Given the description of an element on the screen output the (x, y) to click on. 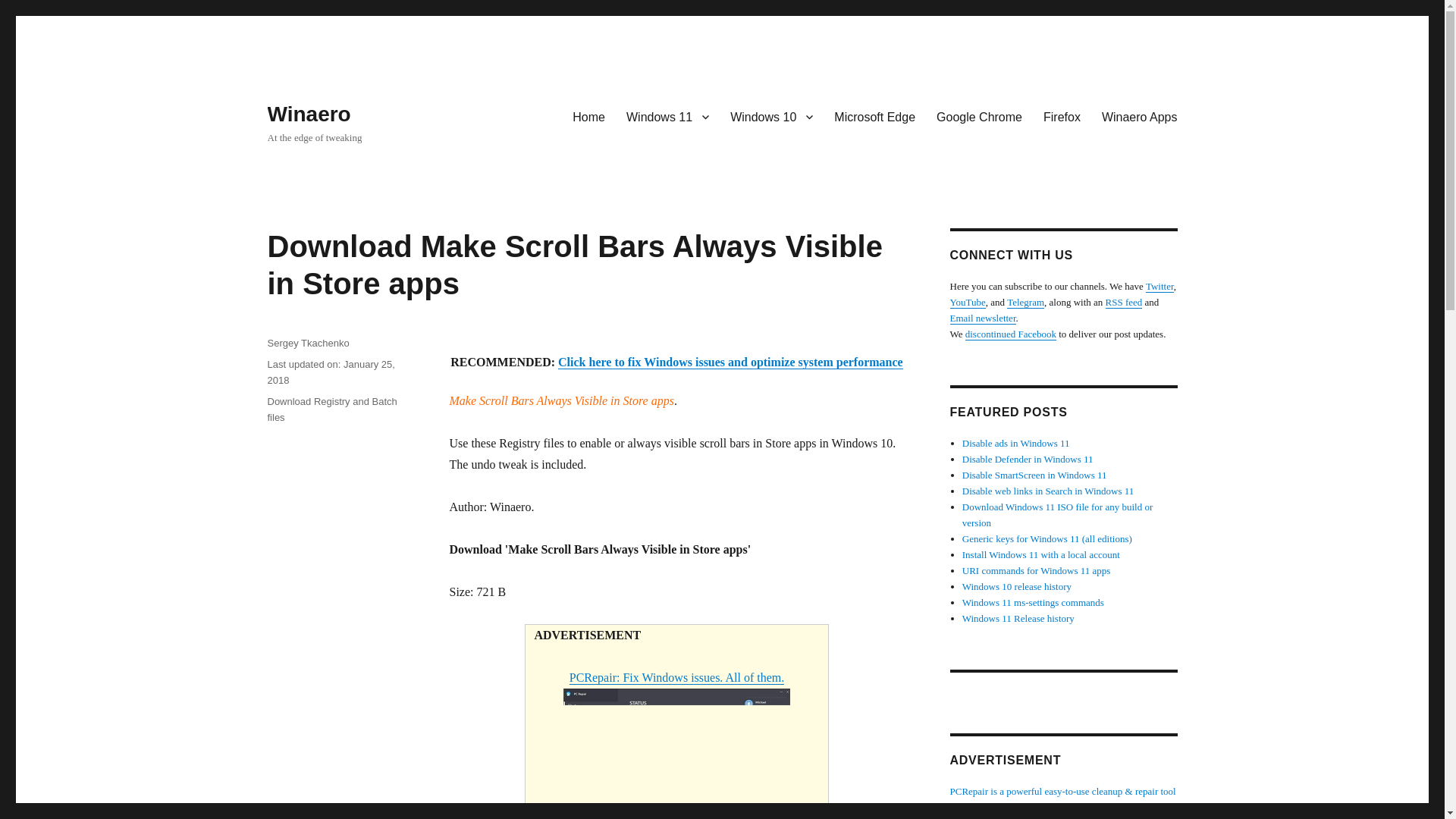
Download Registry and Batch files (331, 409)
Winaero on YouTube (967, 301)
PCRepair: Fix Windows issues. All of them. (676, 744)
Email newsletter (981, 317)
Join our Telegram channel (1025, 301)
Sergey Tkachenko (307, 342)
Microsoft Edge (875, 116)
Windows 10 (771, 116)
Home (588, 116)
Subscribe with email (981, 317)
